Given the description of an element on the screen output the (x, y) to click on. 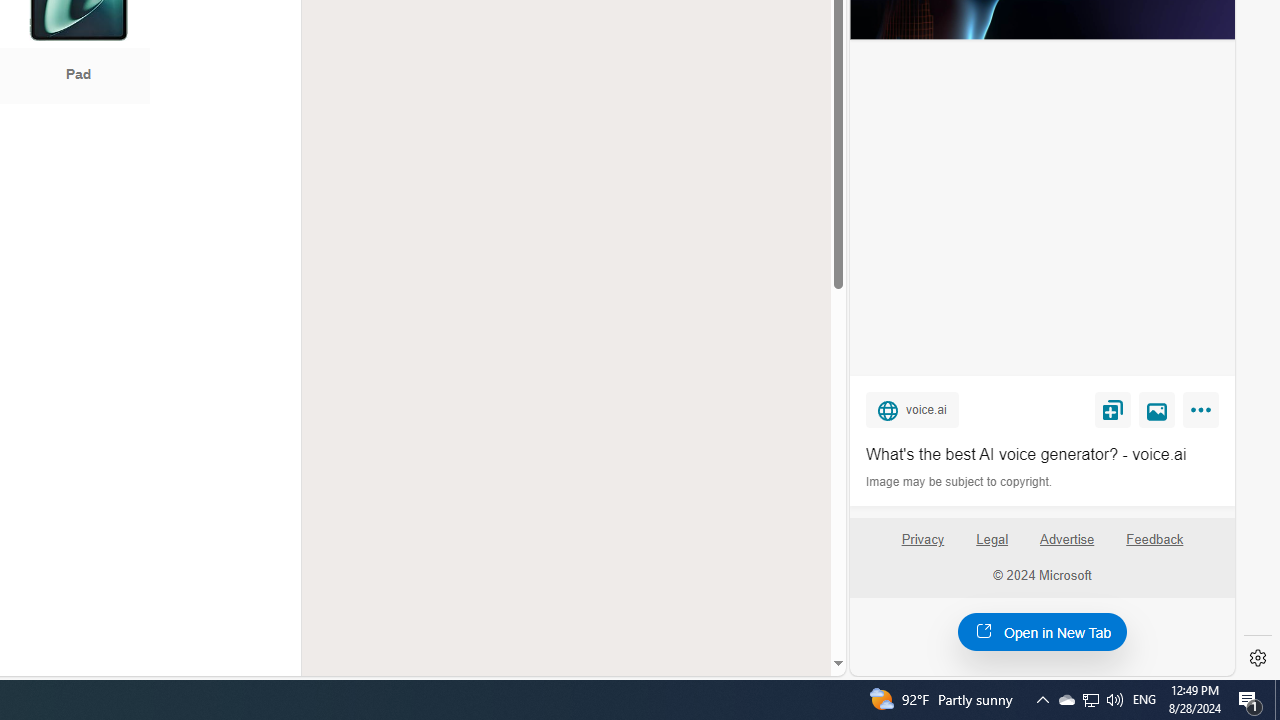
Save (1112, 409)
Legal (991, 539)
Image may be subject to copyright. (959, 481)
View image (1157, 409)
Legal (992, 547)
